Given the description of an element on the screen output the (x, y) to click on. 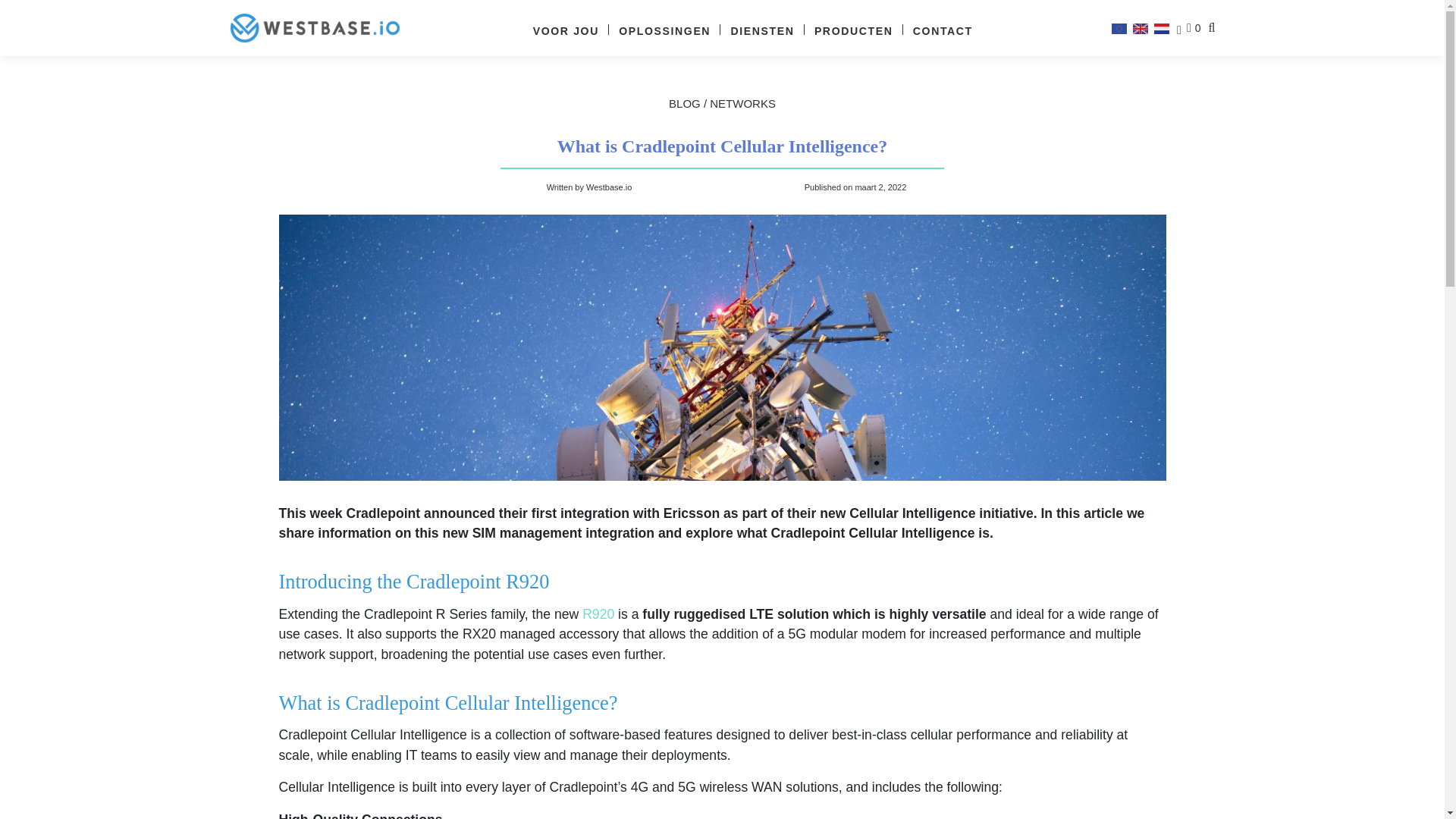
PRODUCTEN (853, 30)
DIENSTEN (762, 30)
VOOR JOU (565, 30)
Basket (1195, 28)
OPLOSSINGEN (664, 30)
